Given the description of an element on the screen output the (x, y) to click on. 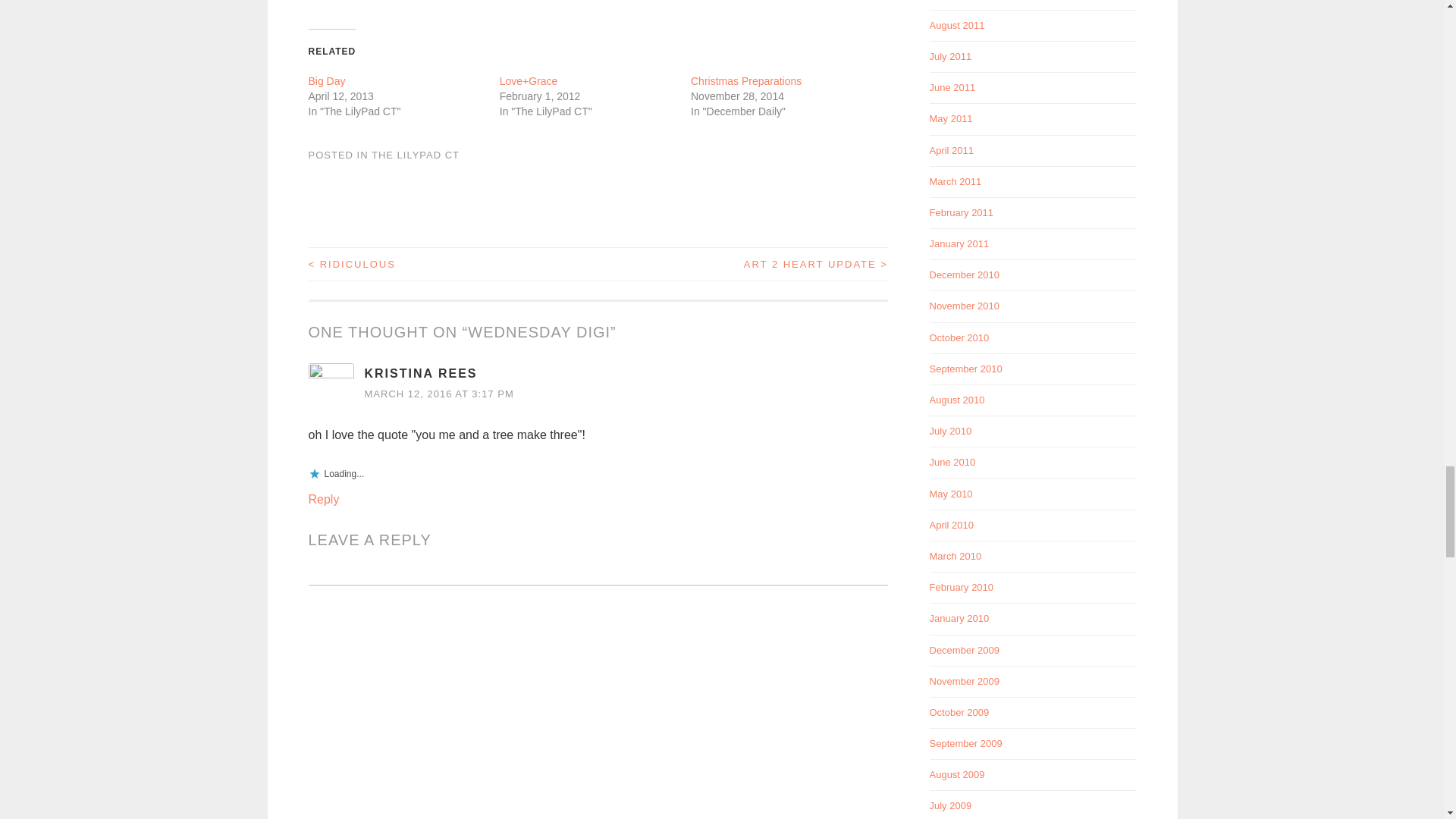
Christmas Preparations (746, 80)
THE LILYPAD CT (415, 154)
MARCH 12, 2016 AT 3:17 PM (438, 393)
Big Day (326, 80)
Christmas Preparations (746, 80)
KRISTINA REES (420, 373)
Big Day (326, 80)
